Given the description of an element on the screen output the (x, y) to click on. 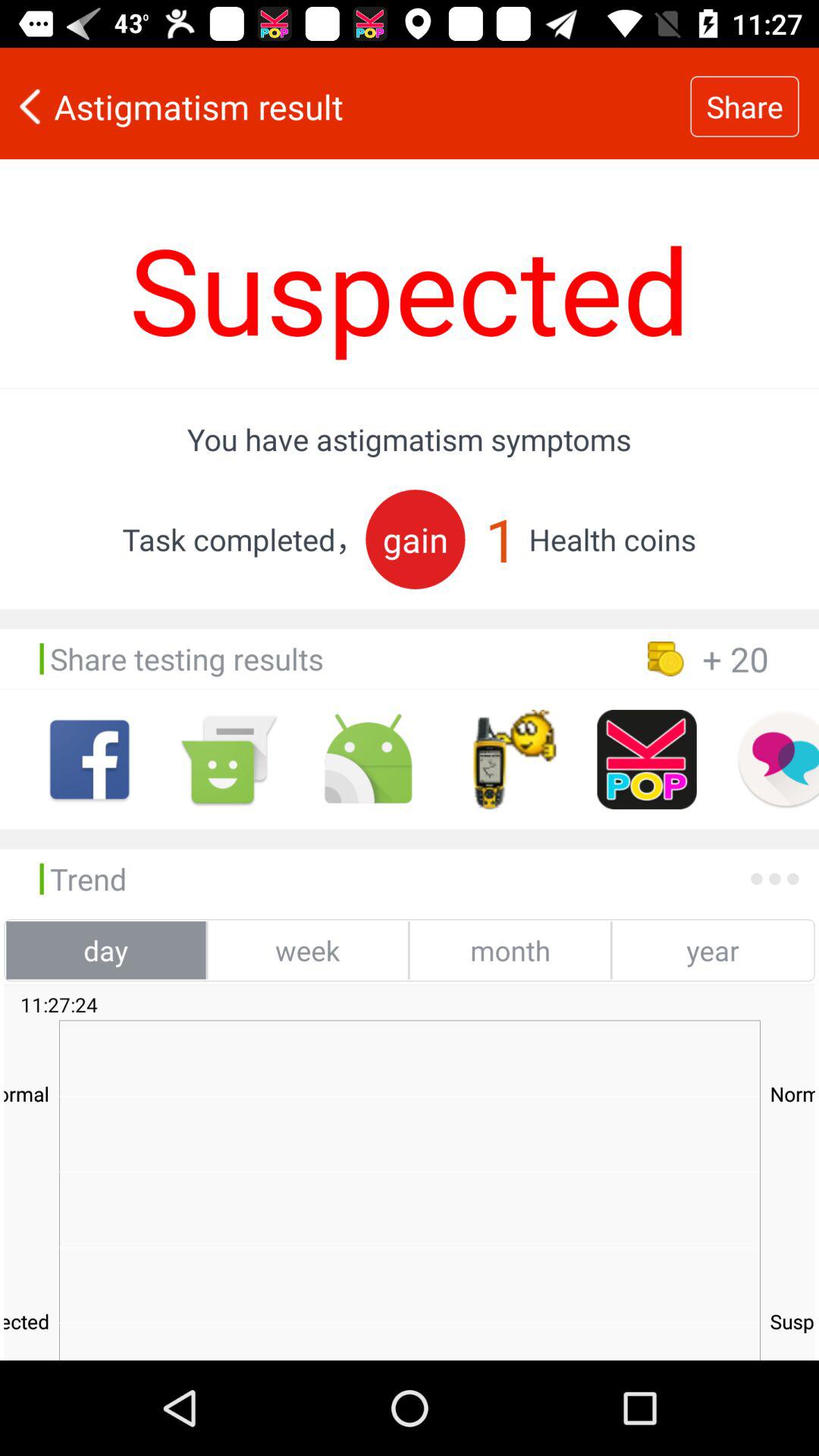
jump to the week (307, 950)
